Given the description of an element on the screen output the (x, y) to click on. 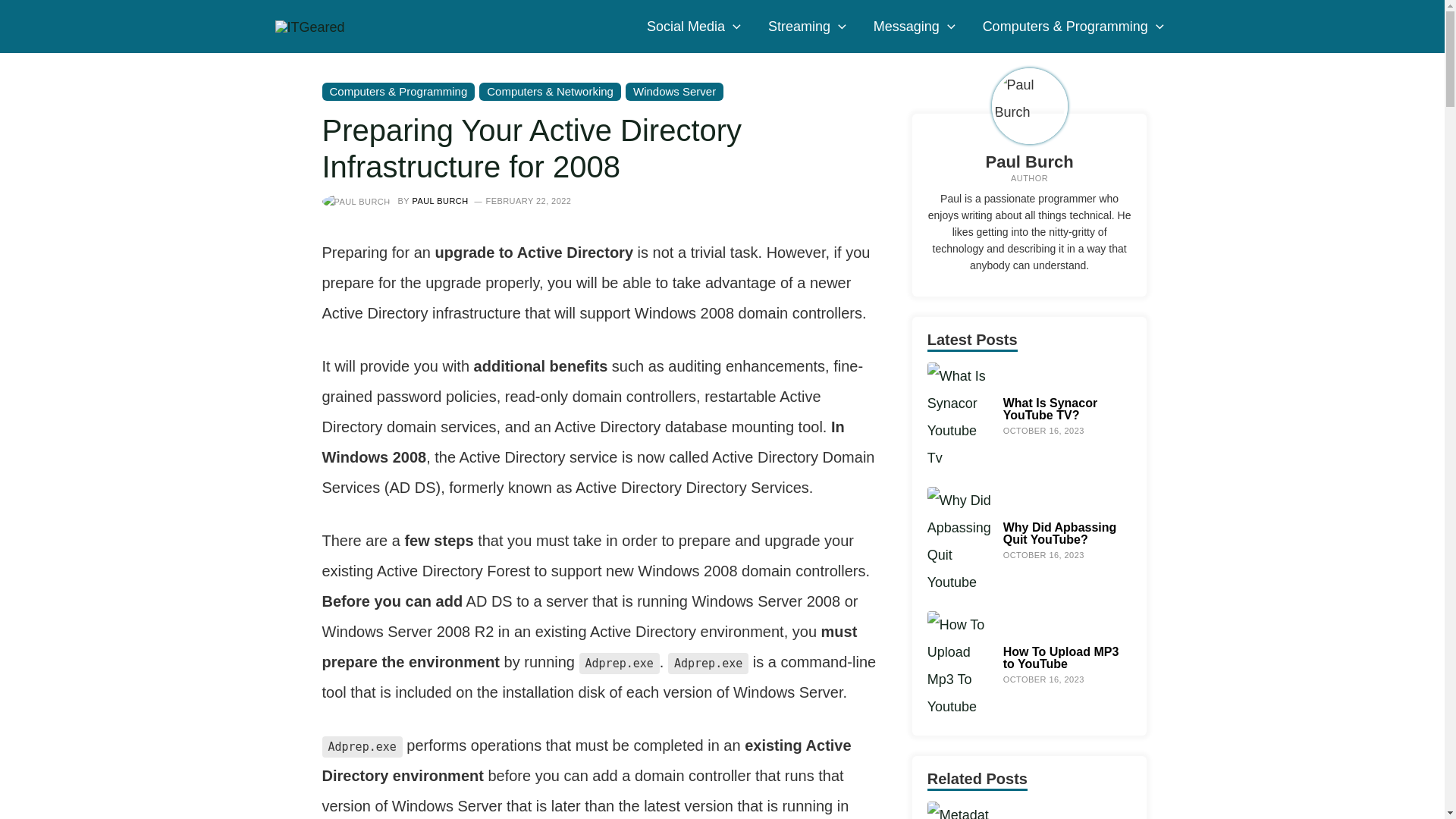
Social Media (693, 26)
Messaging (914, 26)
Streaming (807, 26)
